Given the description of an element on the screen output the (x, y) to click on. 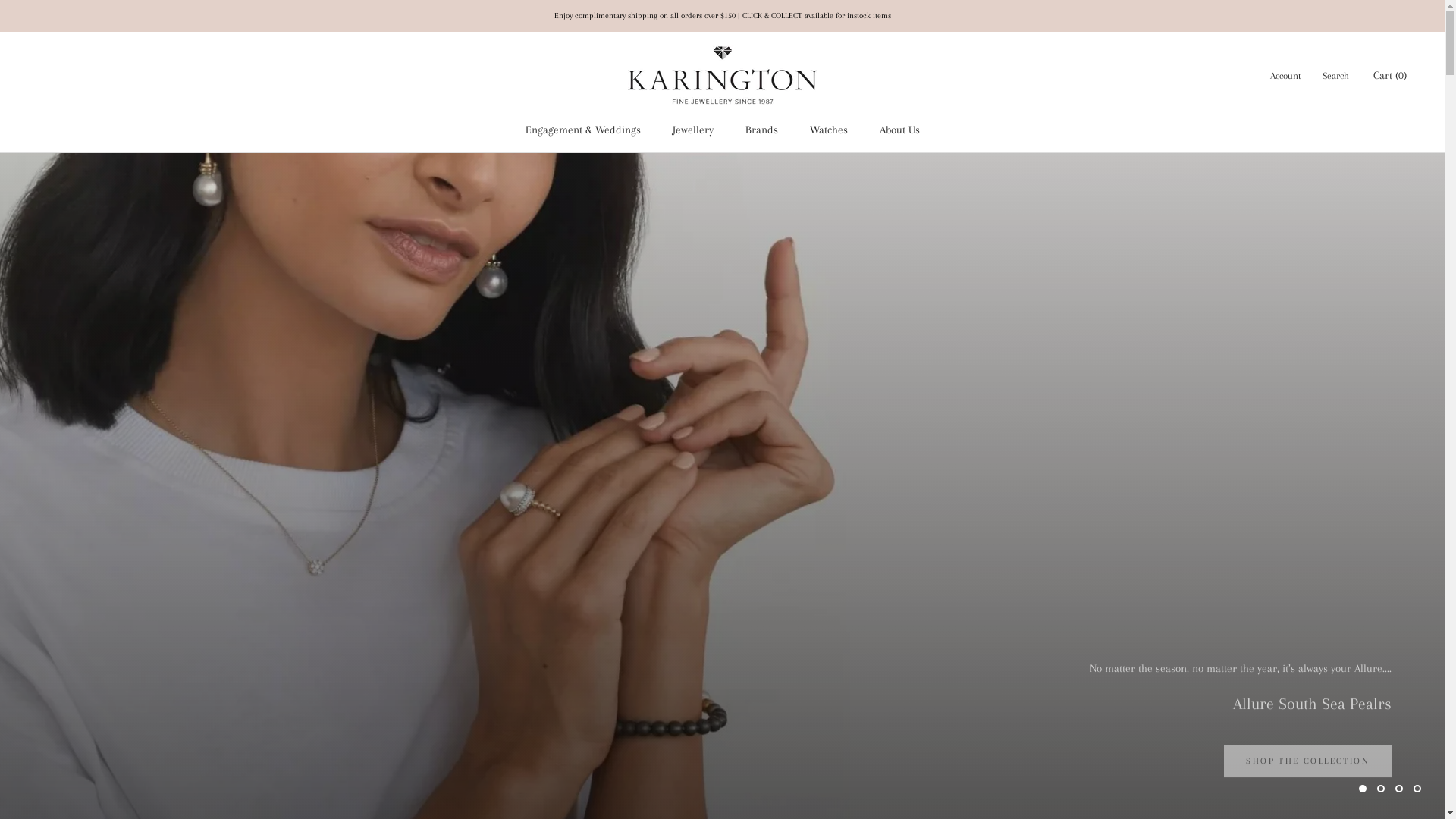
Account Element type: text (1285, 76)
FIND OUT MORE Element type: text (117, 508)
Jewellery
Jewellery Element type: text (691, 129)
Cart (0) Element type: text (1389, 75)
Engagement & Weddings
Engagement & Weddings Element type: text (582, 129)
Watches
Watches Element type: text (828, 129)
Brands
Brands Element type: text (760, 129)
Search Element type: text (1335, 76)
About Us
About Us Element type: text (899, 129)
